Given the description of an element on the screen output the (x, y) to click on. 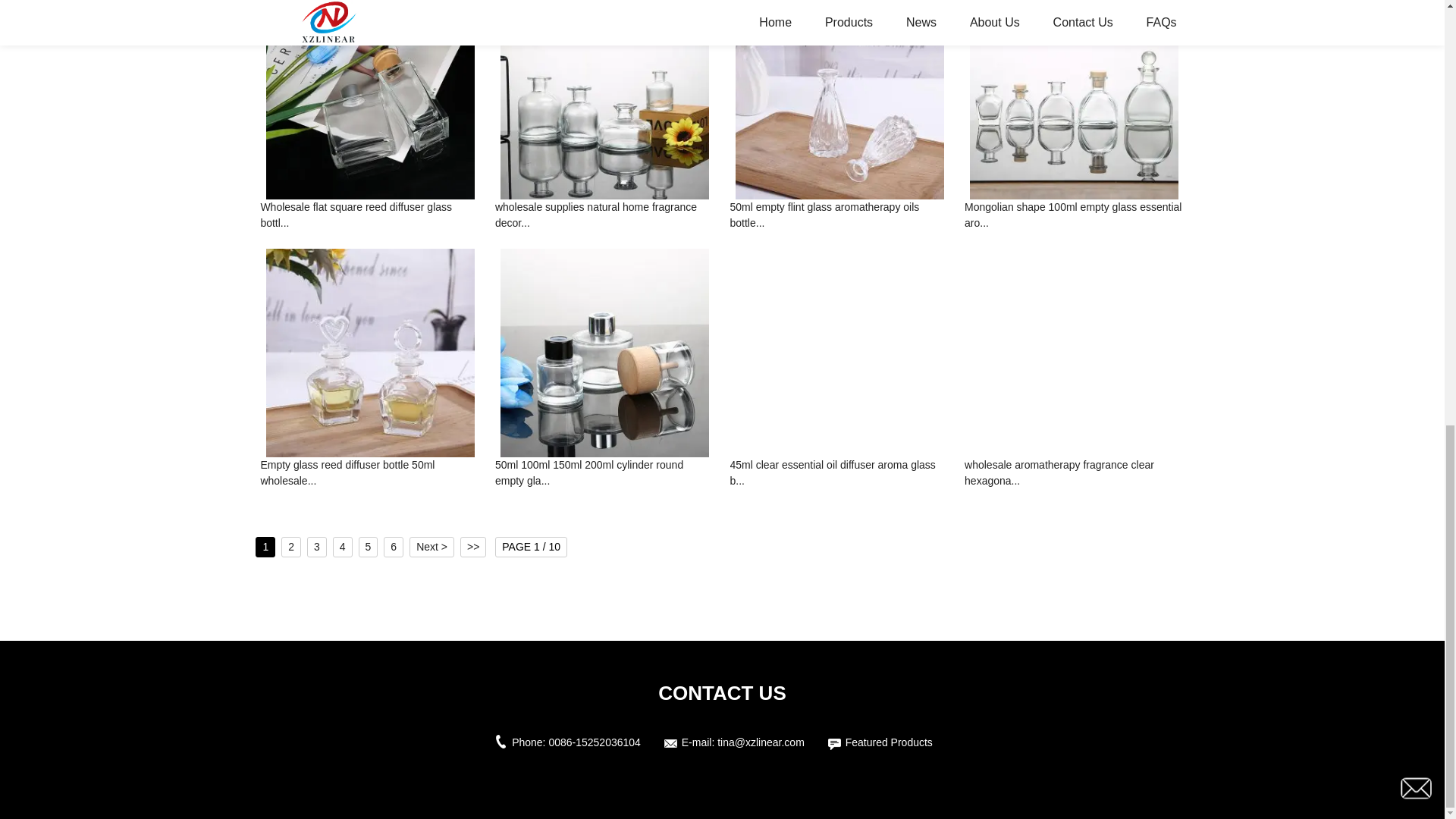
The Last Page (473, 547)
50ml empty flint glass aromatherapy oils bottle... (839, 216)
Wholesale flat square reed diffuser glass bottl... (370, 216)
wholesale supplies natural home fragrance decor... (604, 216)
